Given the description of an element on the screen output the (x, y) to click on. 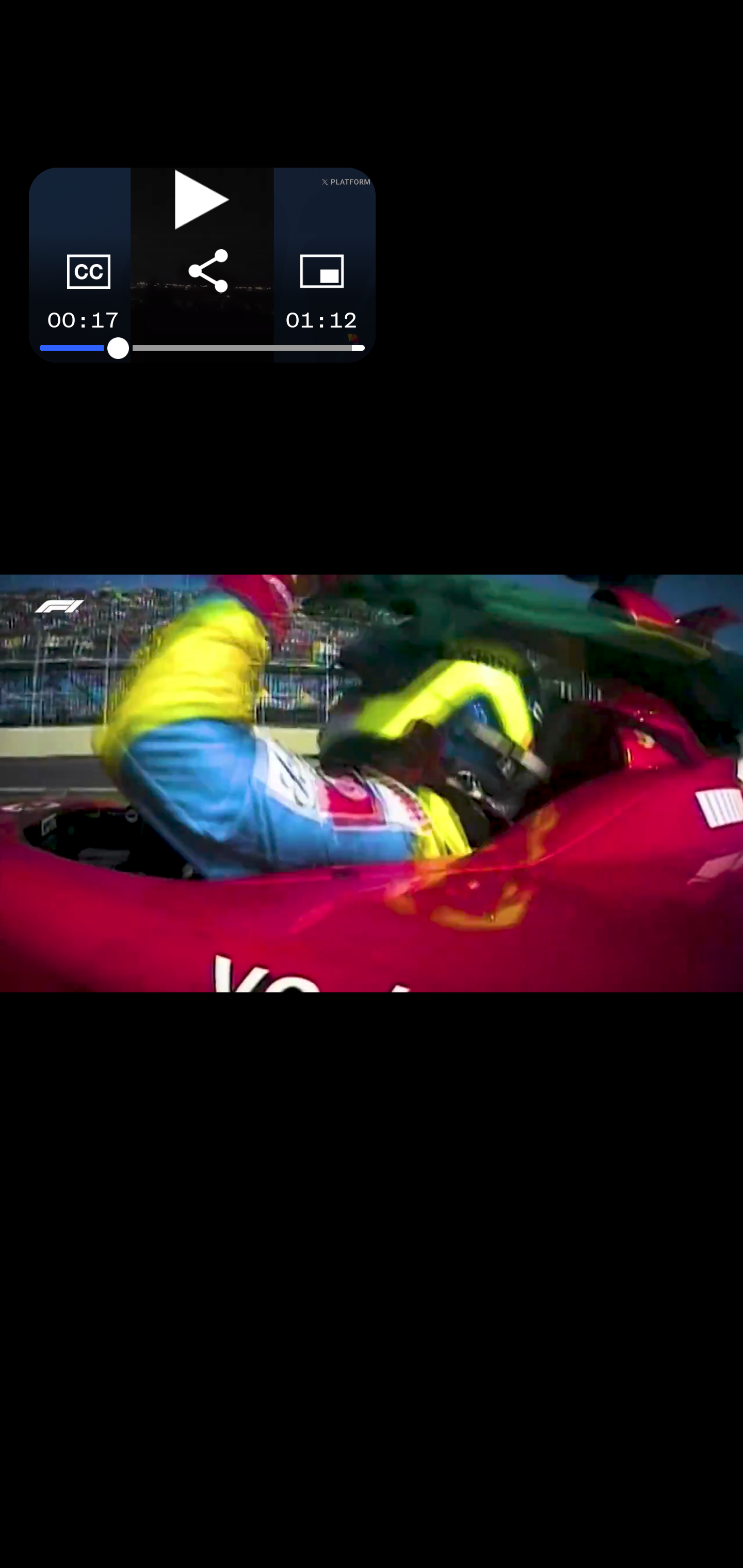
Video Player (371, 783)
